Given the description of an element on the screen output the (x, y) to click on. 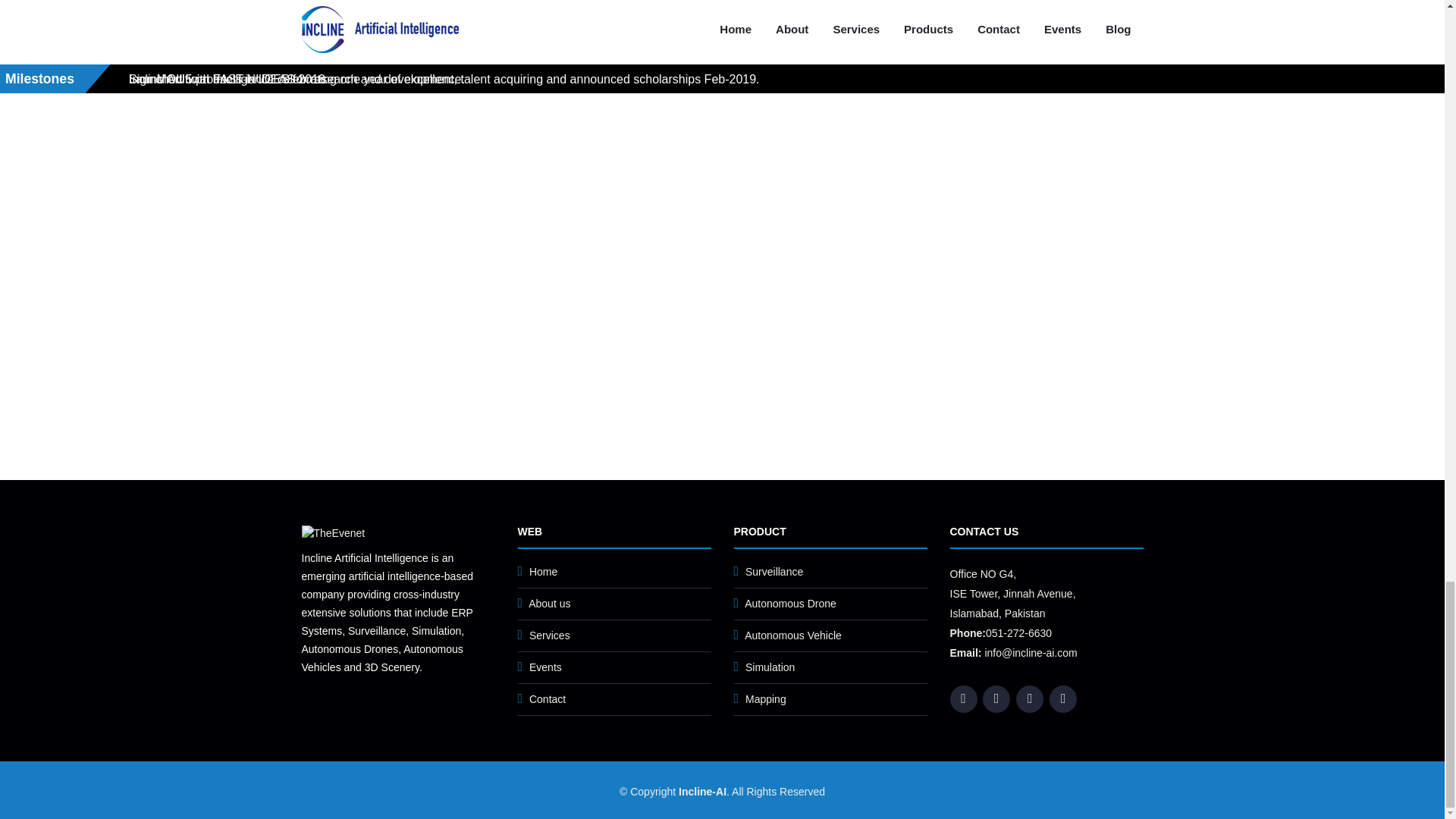
Contact (547, 698)
Mapping (765, 698)
Simulation (769, 666)
Autonomous Drone (789, 603)
Services (549, 635)
Events (545, 666)
About us (549, 603)
Surveillance (774, 571)
Autonomous Vehicle (792, 635)
Home (543, 571)
